Given the description of an element on the screen output the (x, y) to click on. 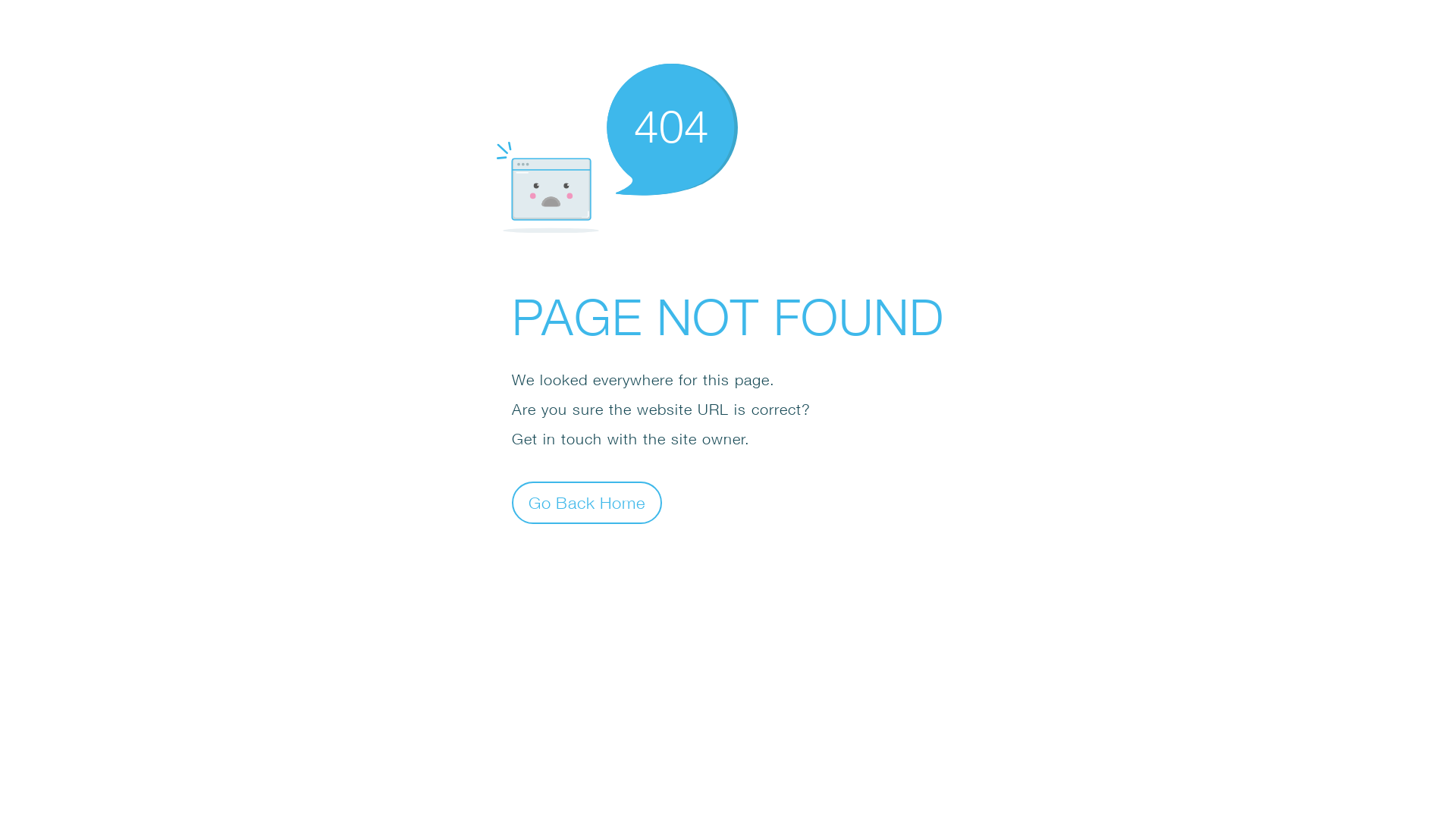
Go Back Home Element type: text (586, 502)
